Given the description of an element on the screen output the (x, y) to click on. 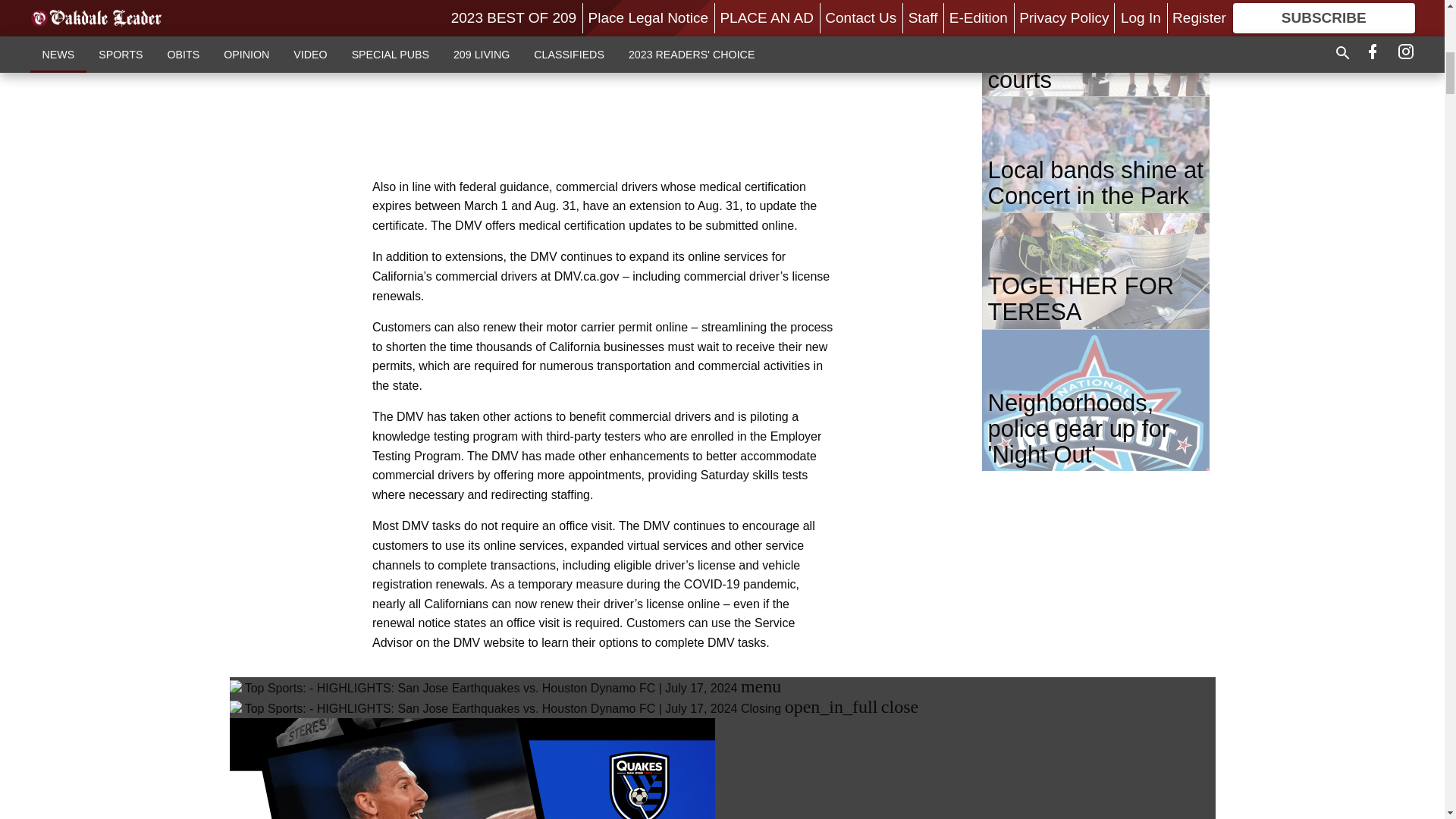
3rd party ad content (602, 79)
